Given the description of an element on the screen output the (x, y) to click on. 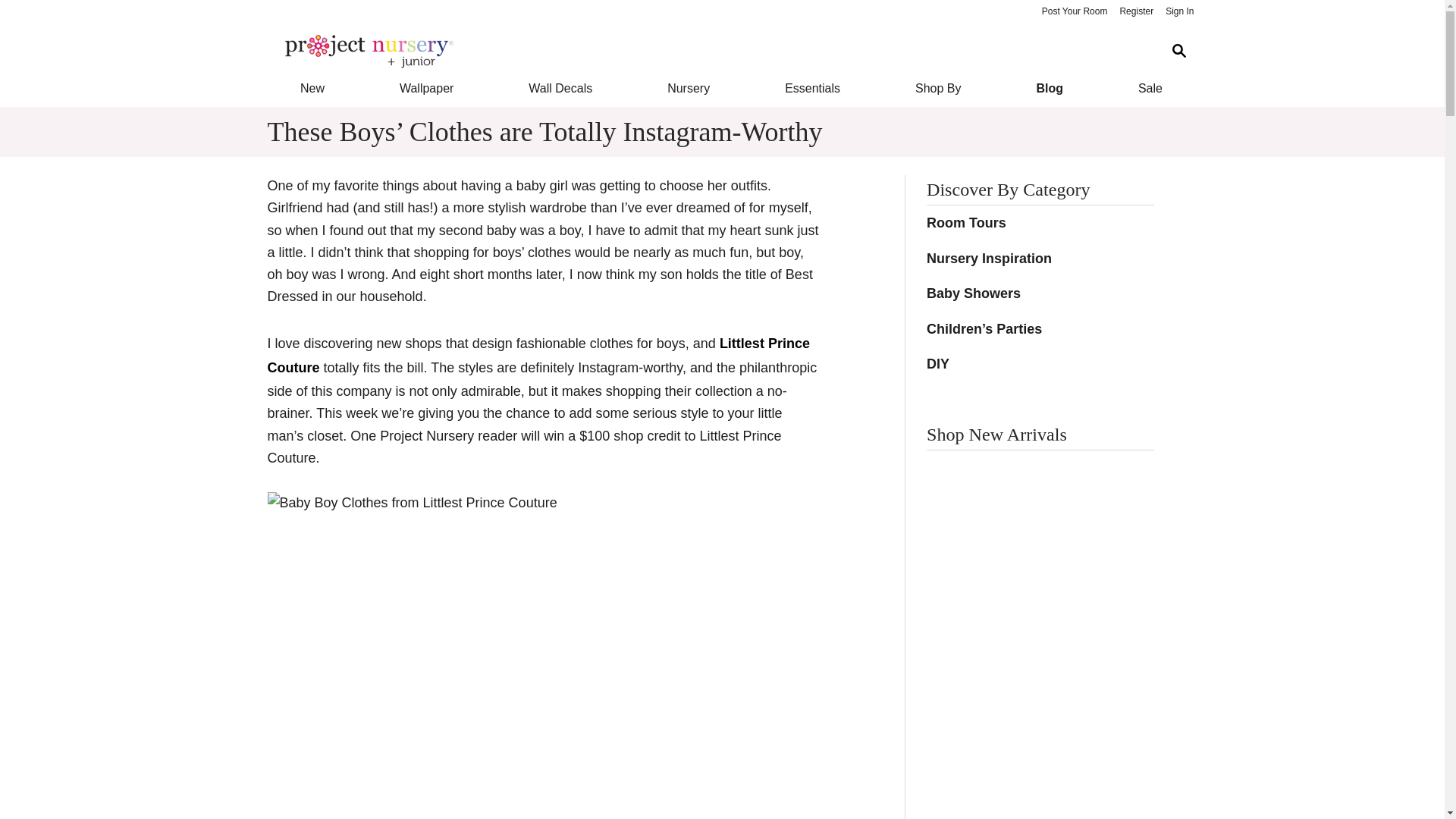
Register (1135, 11)
Search (1178, 50)
Sign In (1178, 11)
Project Nursery (709, 51)
Wallpaper (425, 88)
New (311, 88)
Nursery (689, 88)
Wall Decals (561, 88)
Post Your Room (1074, 11)
Post Your Room (1074, 11)
